Given the description of an element on the screen output the (x, y) to click on. 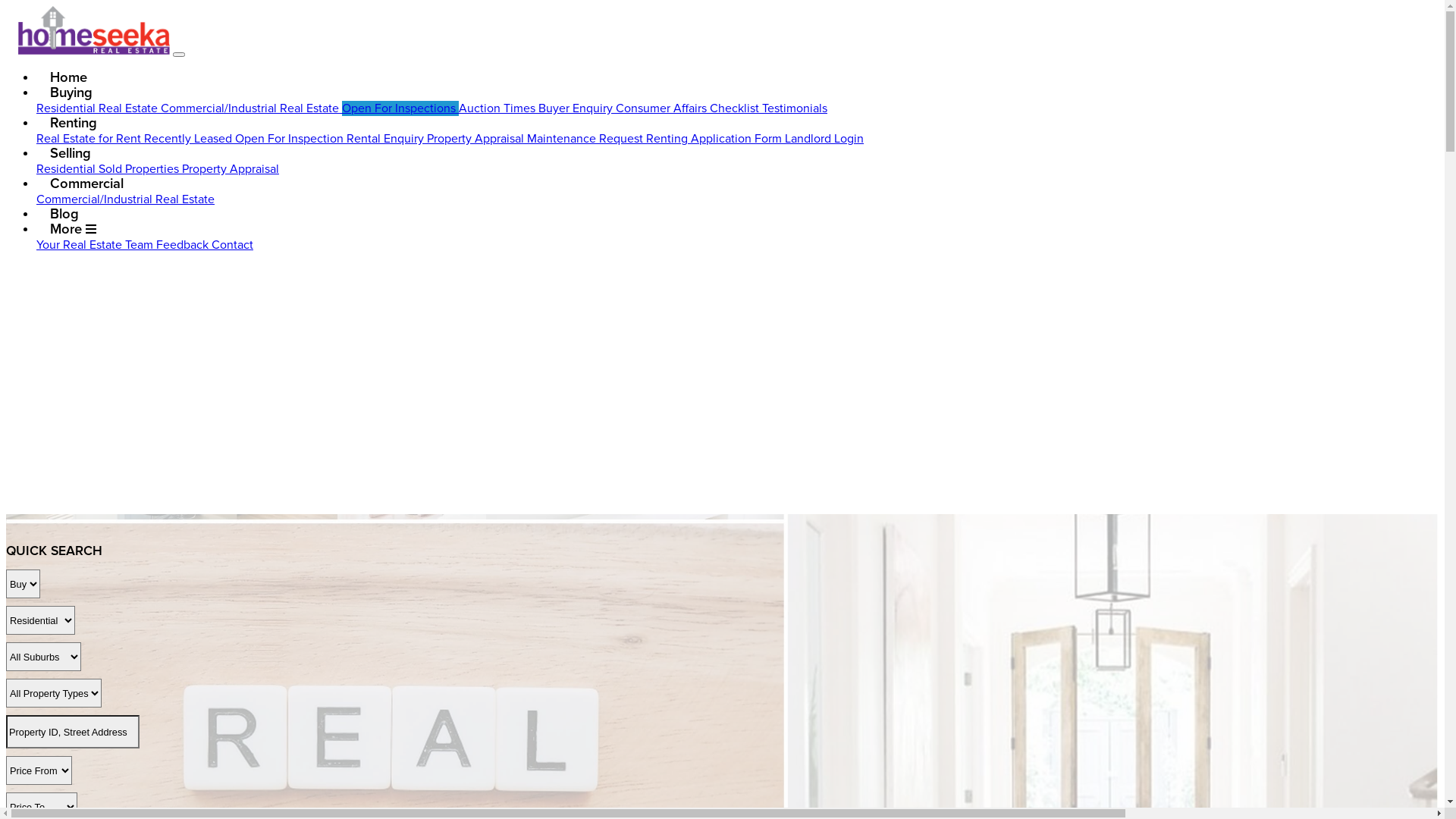
Open For Inspections Element type: text (400, 108)
Commercial/Industrial Real Estate Element type: text (125, 199)
Real Estate for Rent Element type: text (90, 138)
Landlord Login Element type: text (823, 138)
Renting Application Form Element type: text (715, 138)
Feedback Element type: text (183, 244)
Residential Sold Properties Element type: text (109, 168)
Renting Element type: text (72, 122)
Maintenance Request Element type: text (586, 138)
Residential Real Estate Element type: text (98, 108)
Buyer Enquiry Element type: text (576, 108)
Homeseeka Element type: hover (93, 30)
Property Appraisal Element type: text (476, 138)
Your Real Estate Team Element type: text (96, 244)
Commercial/Industrial Real Estate Element type: text (251, 108)
Consumer Affairs Checklist Element type: text (688, 108)
Contact Element type: text (232, 244)
Commercial Element type: text (86, 183)
Property Appraisal Element type: text (230, 168)
Recently Leased Element type: text (189, 138)
Blog Element type: text (63, 213)
Rental Enquiry Element type: text (386, 138)
Auction Times Element type: text (498, 108)
Buying Element type: text (70, 92)
Home Element type: text (68, 77)
Open For Inspection Element type: text (290, 138)
Testimonials Element type: text (794, 108)
Selling Element type: text (69, 153)
More   Element type: text (74, 229)
